Given the description of an element on the screen output the (x, y) to click on. 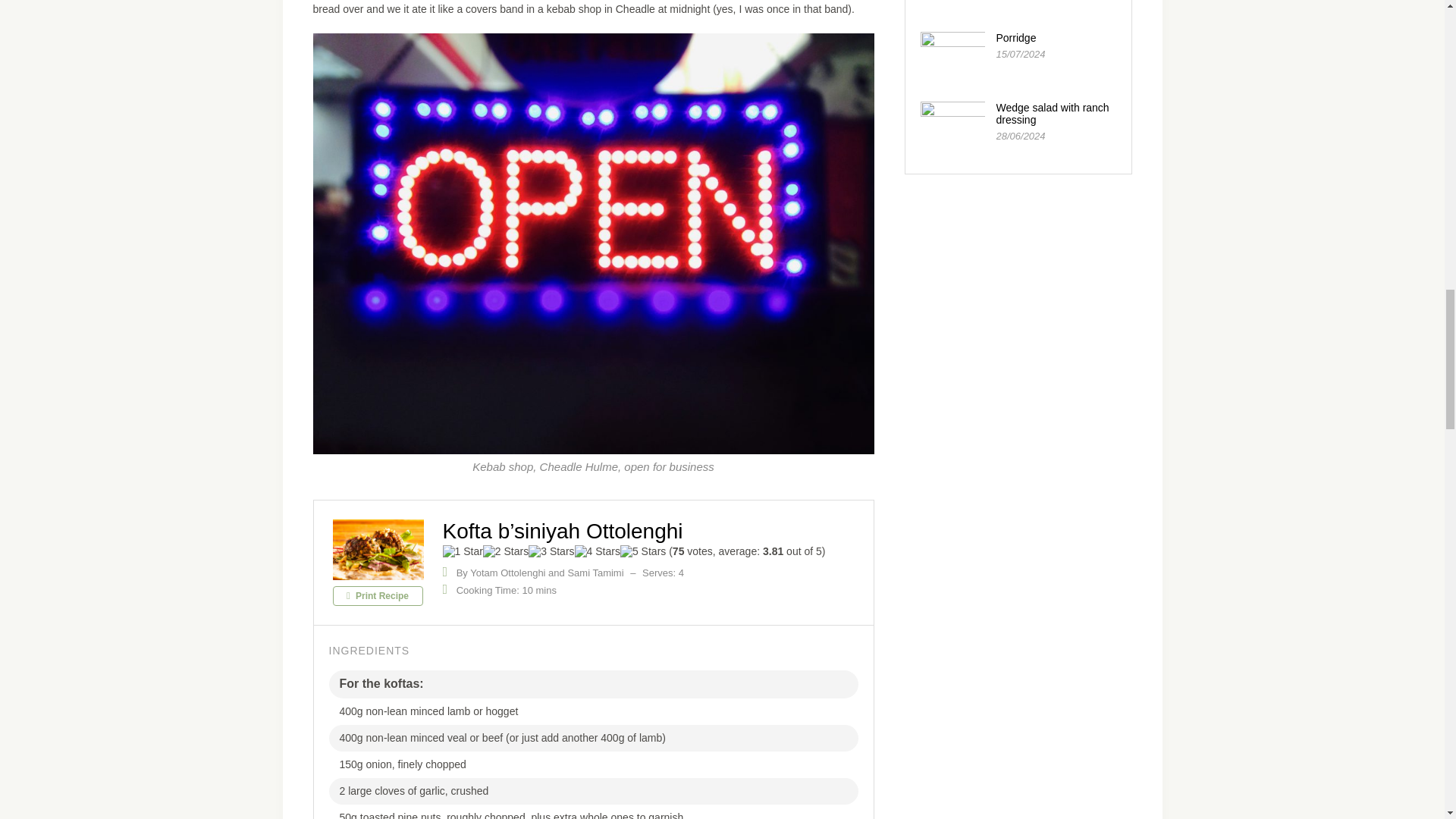
2 Stars (505, 551)
5 Stars (642, 551)
4 Stars (597, 551)
1 Star (462, 551)
Print Recipe (376, 596)
3 Stars (550, 551)
